Given the description of an element on the screen output the (x, y) to click on. 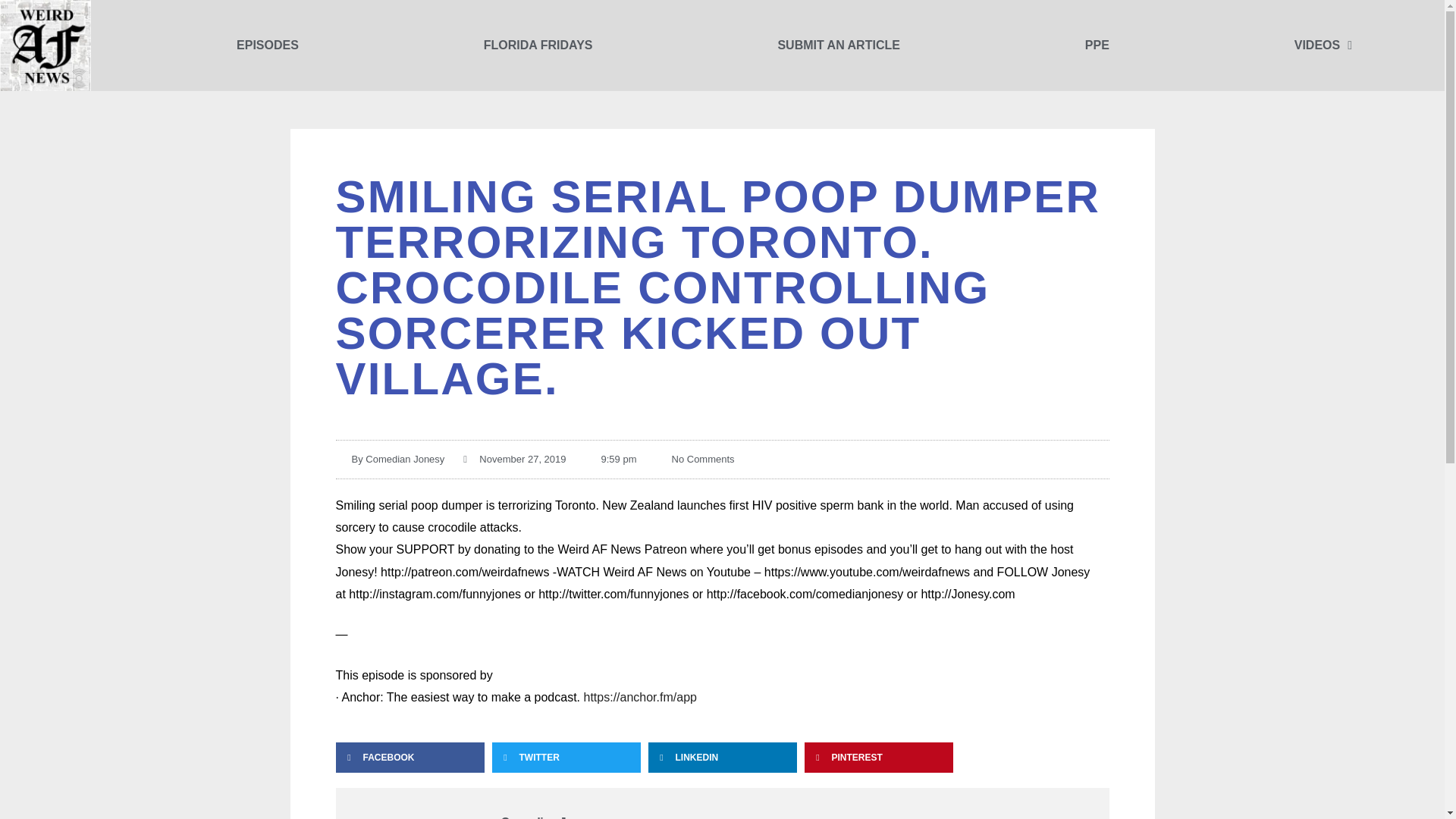
FLORIDA FRIDAYS (538, 45)
VIDEOS (1323, 45)
PPE (1097, 45)
EPISODES (267, 45)
SUBMIT AN ARTICLE (837, 45)
